Given the description of an element on the screen output the (x, y) to click on. 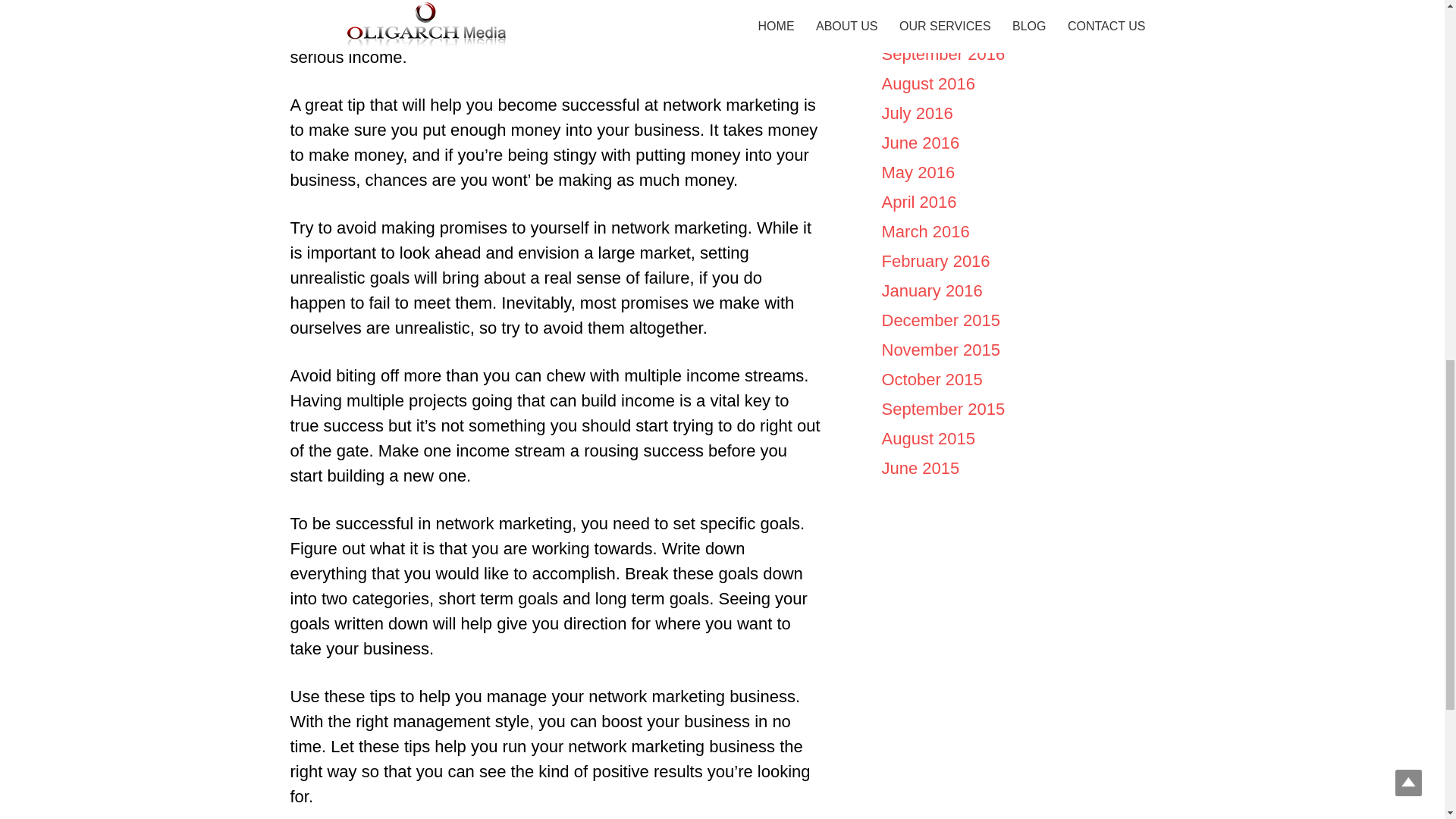
November 2016 (940, 2)
October 2016 (930, 24)
September 2016 (942, 54)
